Given the description of an element on the screen output the (x, y) to click on. 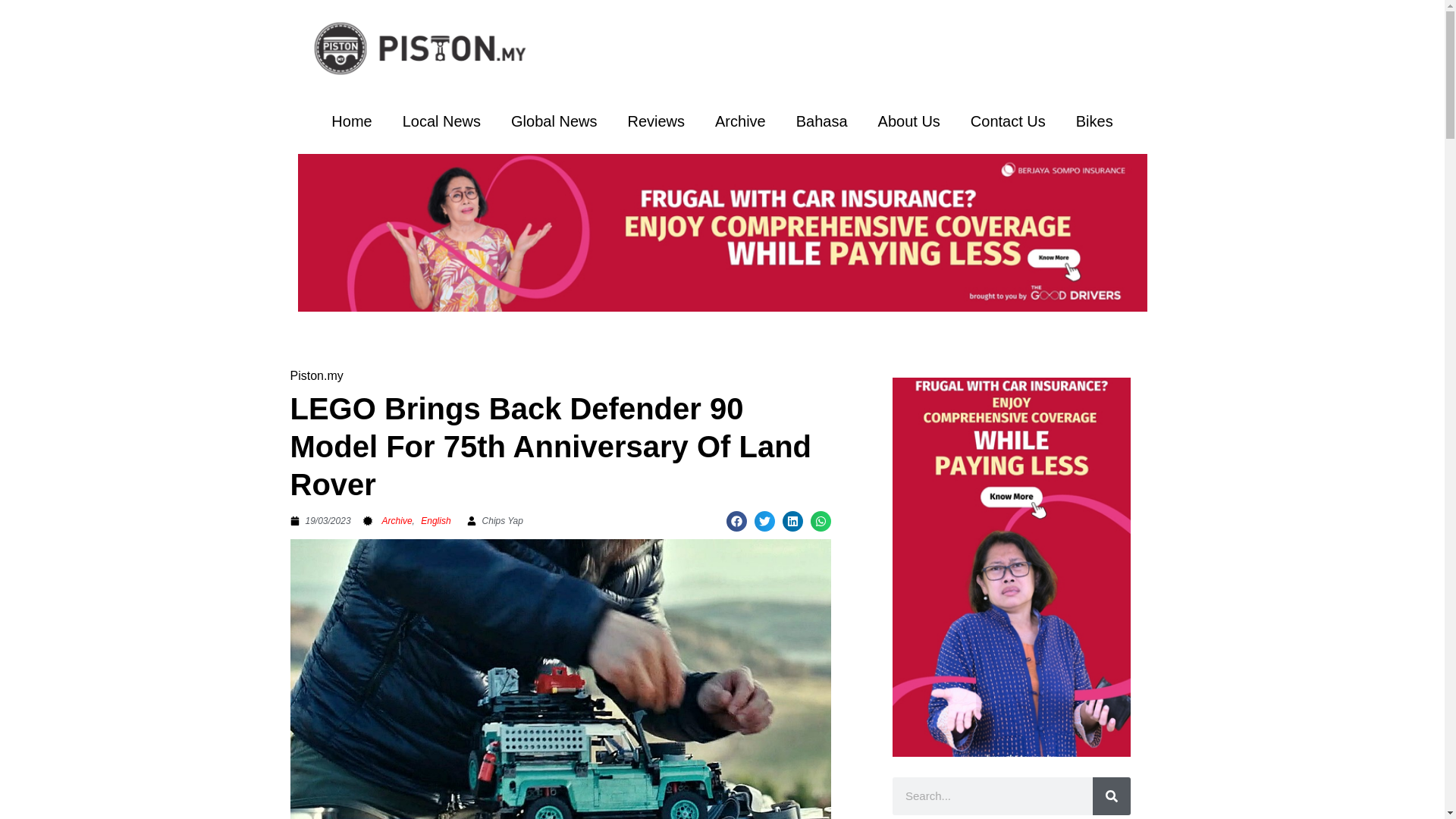
Bahasa (821, 121)
Global News (553, 121)
Archive (740, 121)
Chips Yap (494, 520)
About Us (909, 121)
English (434, 520)
Archive (396, 520)
Contact Us (1008, 121)
Local News (441, 121)
Home (351, 121)
Bikes (1094, 121)
Reviews (655, 121)
